Given the description of an element on the screen output the (x, y) to click on. 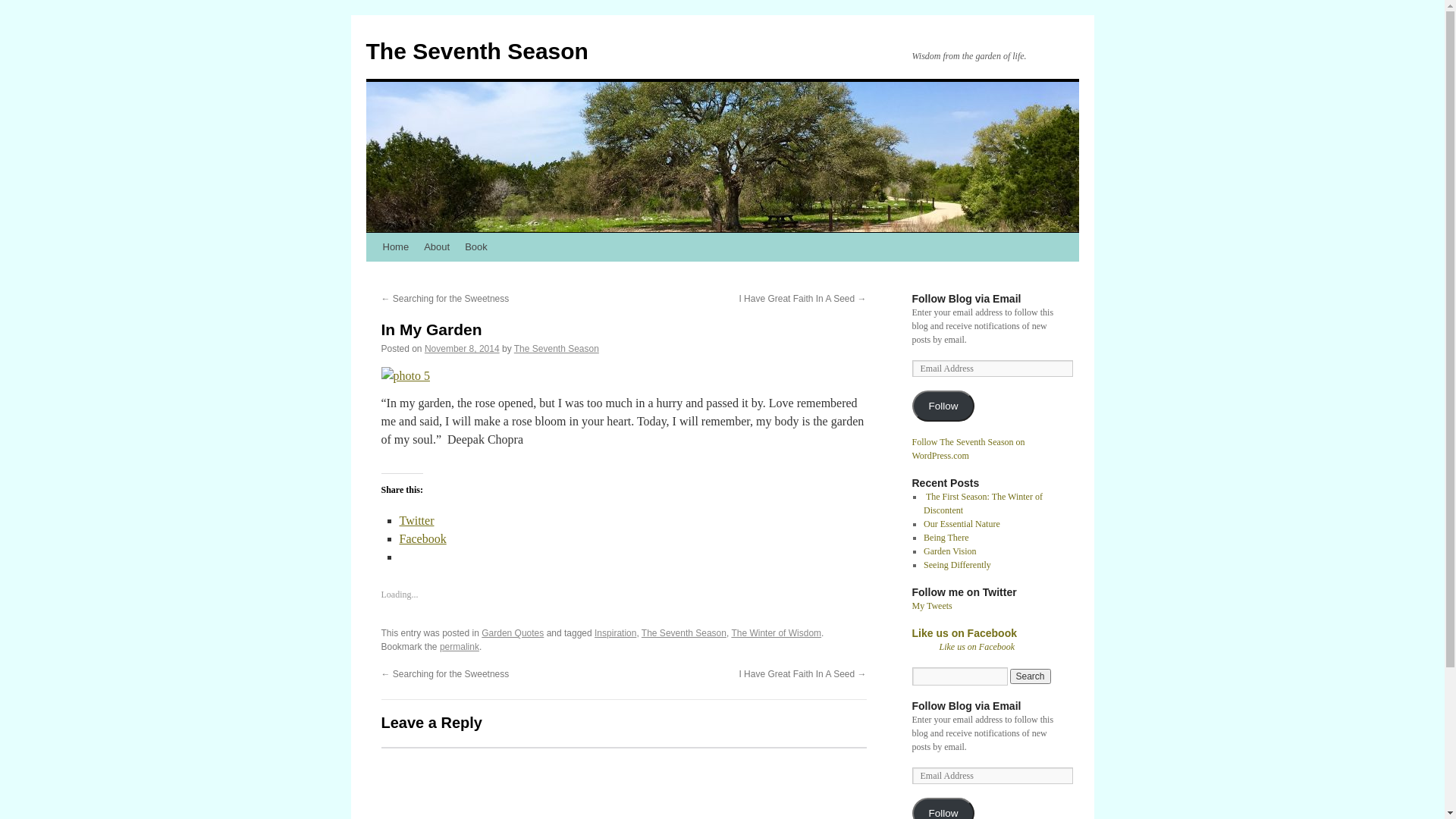
Inspiration Element type: text (615, 632)
Twitter Element type: text (415, 520)
Being There Element type: text (945, 537)
November 8, 2014 Element type: text (461, 348)
Home Element type: text (395, 246)
Skip to content Element type: text (372, 275)
The Winter of Wisdom Element type: text (776, 632)
Search Element type: text (1030, 676)
Follow The Seventh Season on WordPress.com Element type: text (967, 448)
Facebook Element type: text (421, 538)
Garden Vision Element type: text (949, 551)
Seeing Differently Element type: text (957, 564)
Follow Element type: text (942, 405)
In My Garden Element type: text (430, 329)
The Seventh Season Element type: text (476, 50)
permalink Element type: text (459, 646)
Like us on Facebook Element type: text (976, 646)
 The First Season: The Winter of Discontent  Element type: text (982, 503)
My Tweets Element type: text (931, 605)
Like us on Facebook Element type: text (963, 633)
Garden Quotes Element type: text (512, 632)
The Seventh Season Element type: text (556, 348)
The Seventh Season Element type: text (683, 632)
About Element type: text (436, 246)
Our Essential Nature Element type: text (961, 523)
Book Element type: text (476, 246)
